Given the description of an element on the screen output the (x, y) to click on. 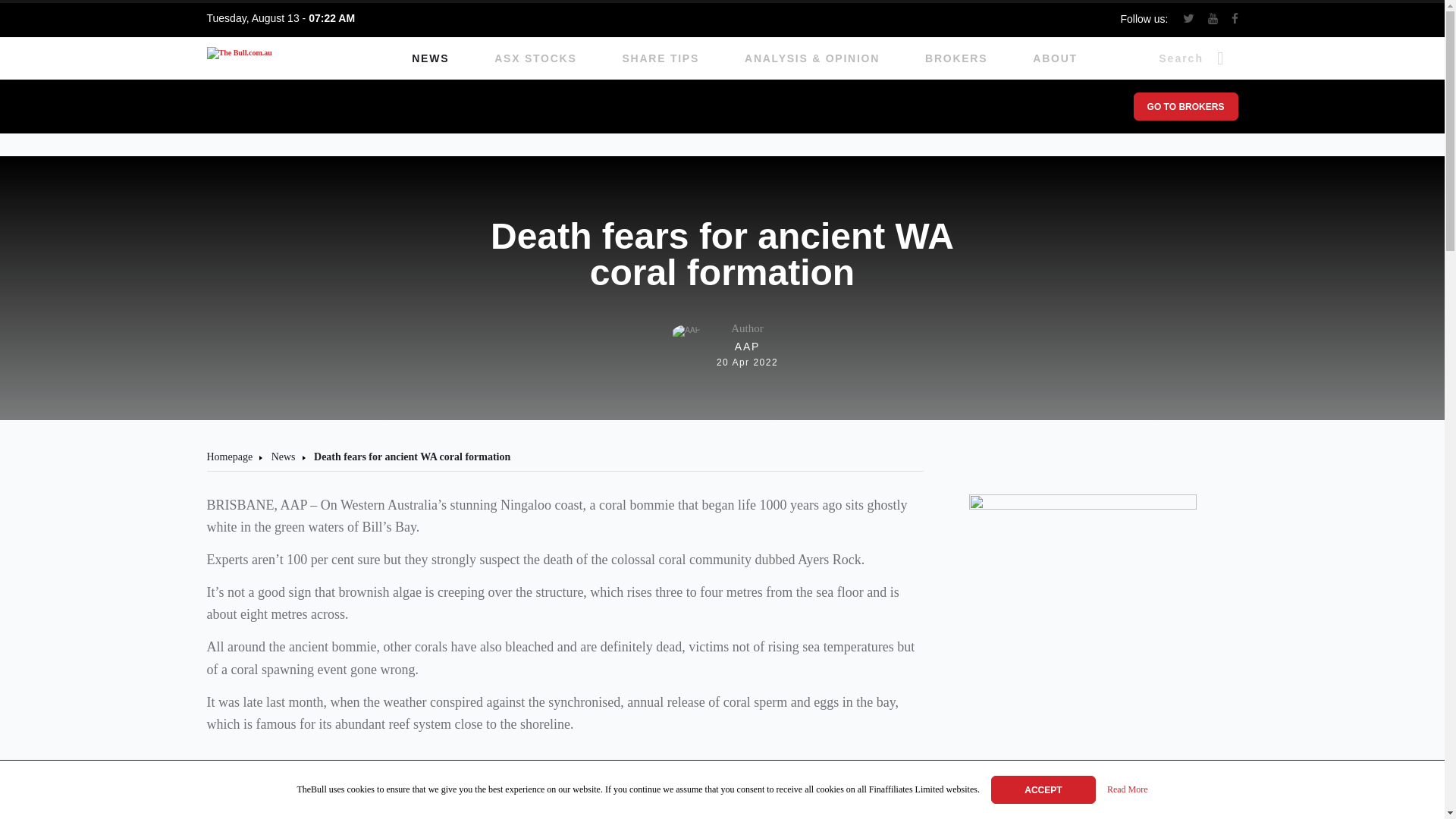
BROKERS (955, 58)
Homepage (228, 456)
ASX STOCKS (535, 58)
News (282, 456)
SHARE TIPS (721, 345)
NEWS (661, 58)
ACCEPT (430, 58)
GO TO BROKERS (1043, 789)
Read More (1184, 106)
